Given the description of an element on the screen output the (x, y) to click on. 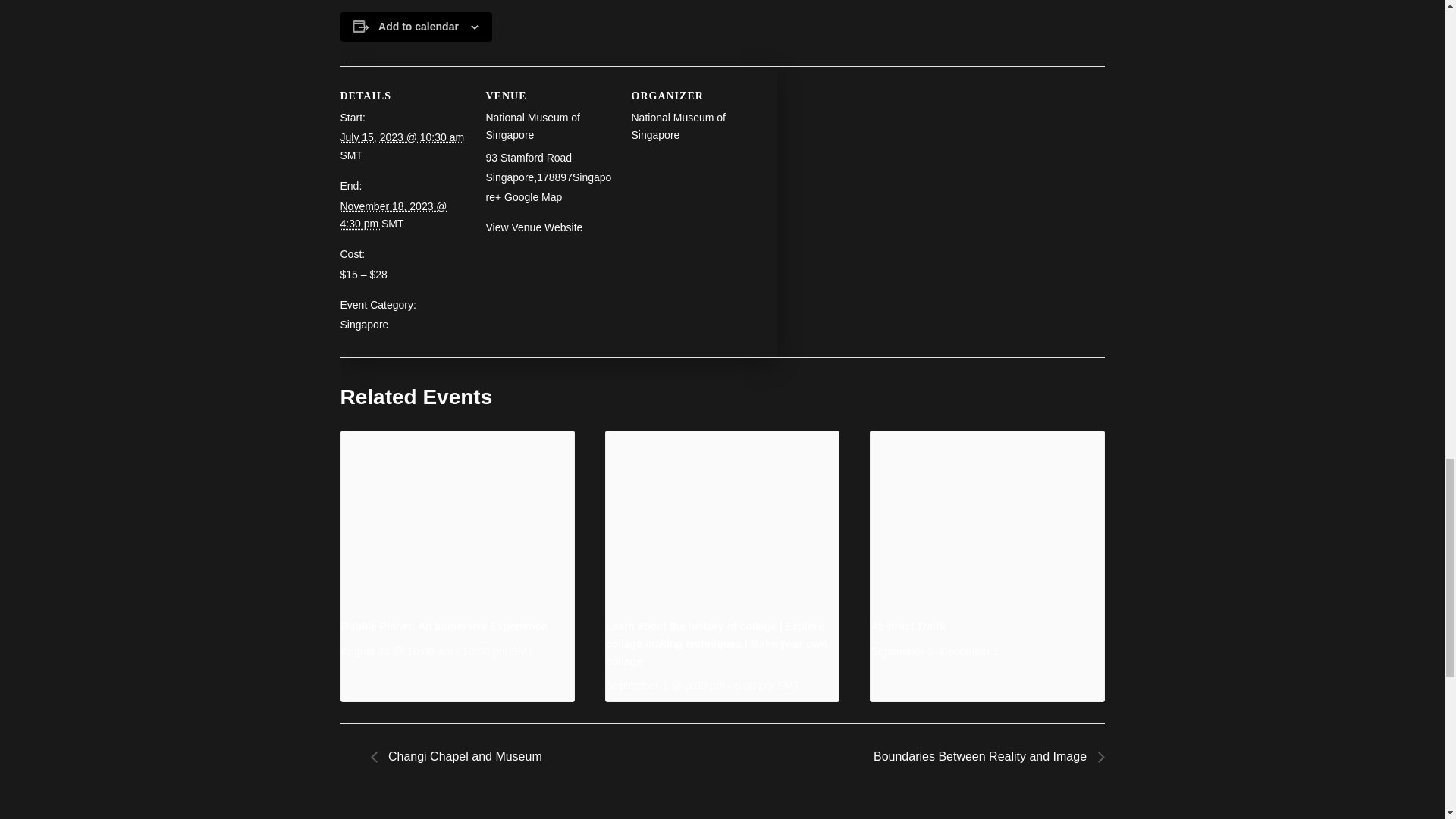
2023-11-18 (392, 214)
National Museum of Singapore (677, 126)
2023-07-15 (401, 137)
Click to view a Google Map (528, 196)
